Given the description of an element on the screen output the (x, y) to click on. 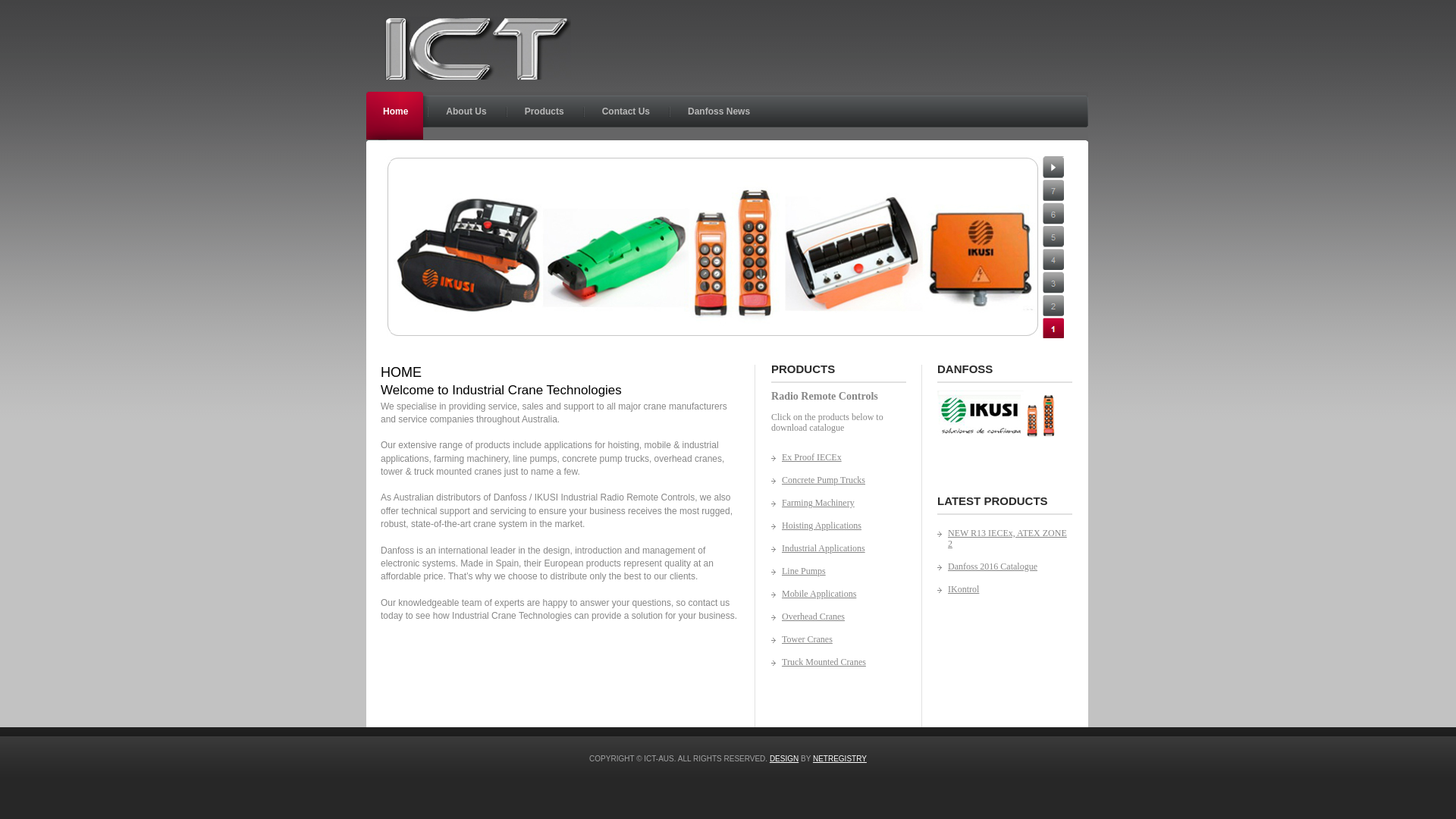
Line Pumps Element type: text (831, 570)
NETREGISTRY Element type: text (839, 758)
DESIGN Element type: text (783, 758)
Overhead Cranes Element type: text (831, 616)
Tower Cranes Element type: text (831, 639)
Mobile Applications Element type: text (831, 593)
Concrete Pump Trucks Element type: text (831, 479)
Industrial Applications Element type: text (831, 548)
Danfoss News Element type: text (721, 115)
Hoisting Applications Element type: text (831, 525)
About Us Element type: text (468, 115)
Truck Mounted Cranes Element type: text (831, 661)
Ex Proof IECEx Element type: text (831, 457)
Contact Us Element type: text (628, 115)
Danfoss 2016 Catalogue Element type: text (1004, 566)
Home Element type: text (397, 115)
IKontrol Element type: text (1004, 589)
NEW R13 IECEx, ATEX ZONE 2 Element type: text (1004, 538)
Products Element type: text (546, 115)
Farming Machinery Element type: text (831, 502)
Visit Danfoss head office site Element type: hover (1001, 436)
Industrial Crane Technologies Element type: text (477, 47)
